Given the description of an element on the screen output the (x, y) to click on. 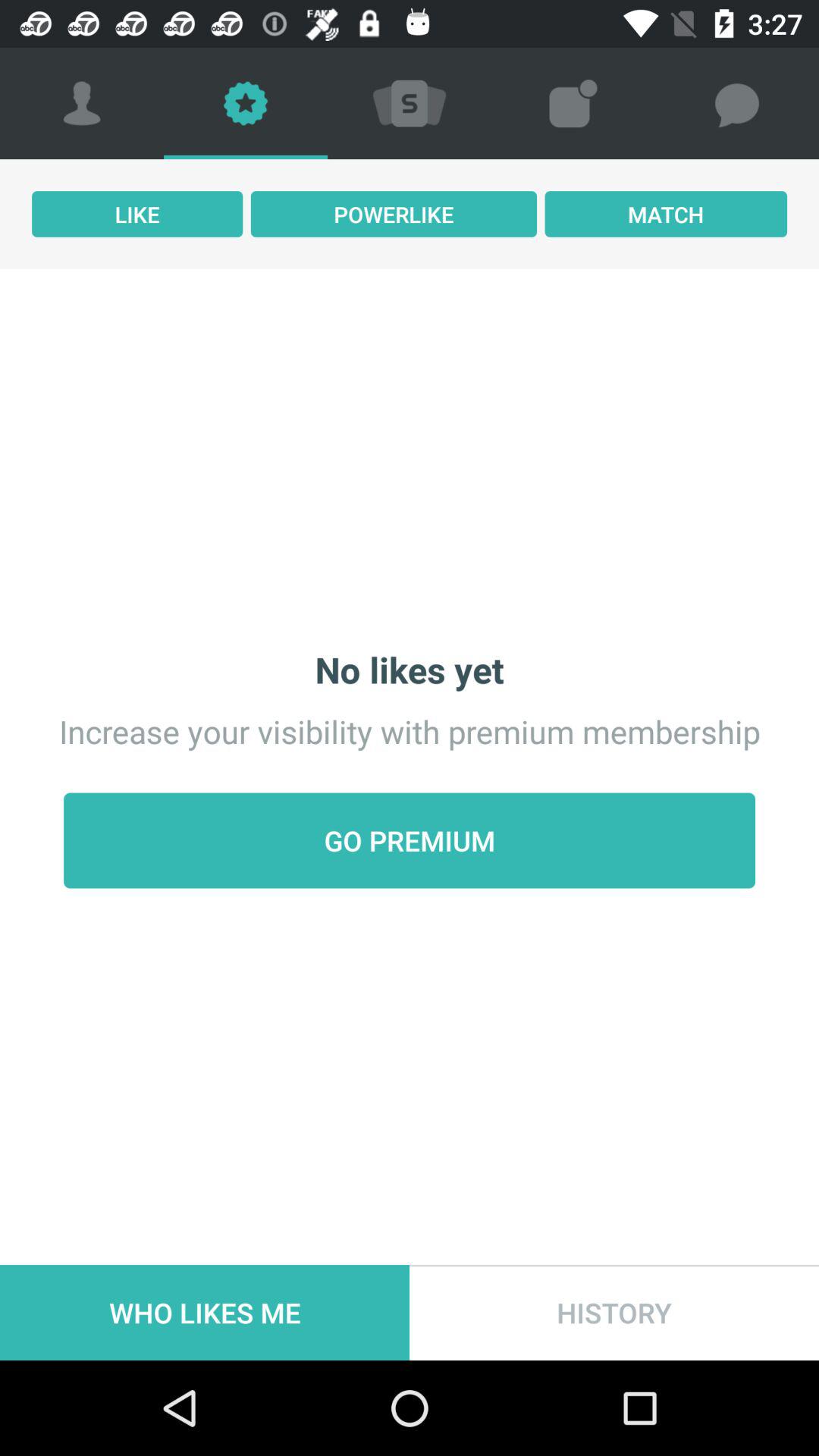
choose item at the bottom right corner (614, 1312)
